Given the description of an element on the screen output the (x, y) to click on. 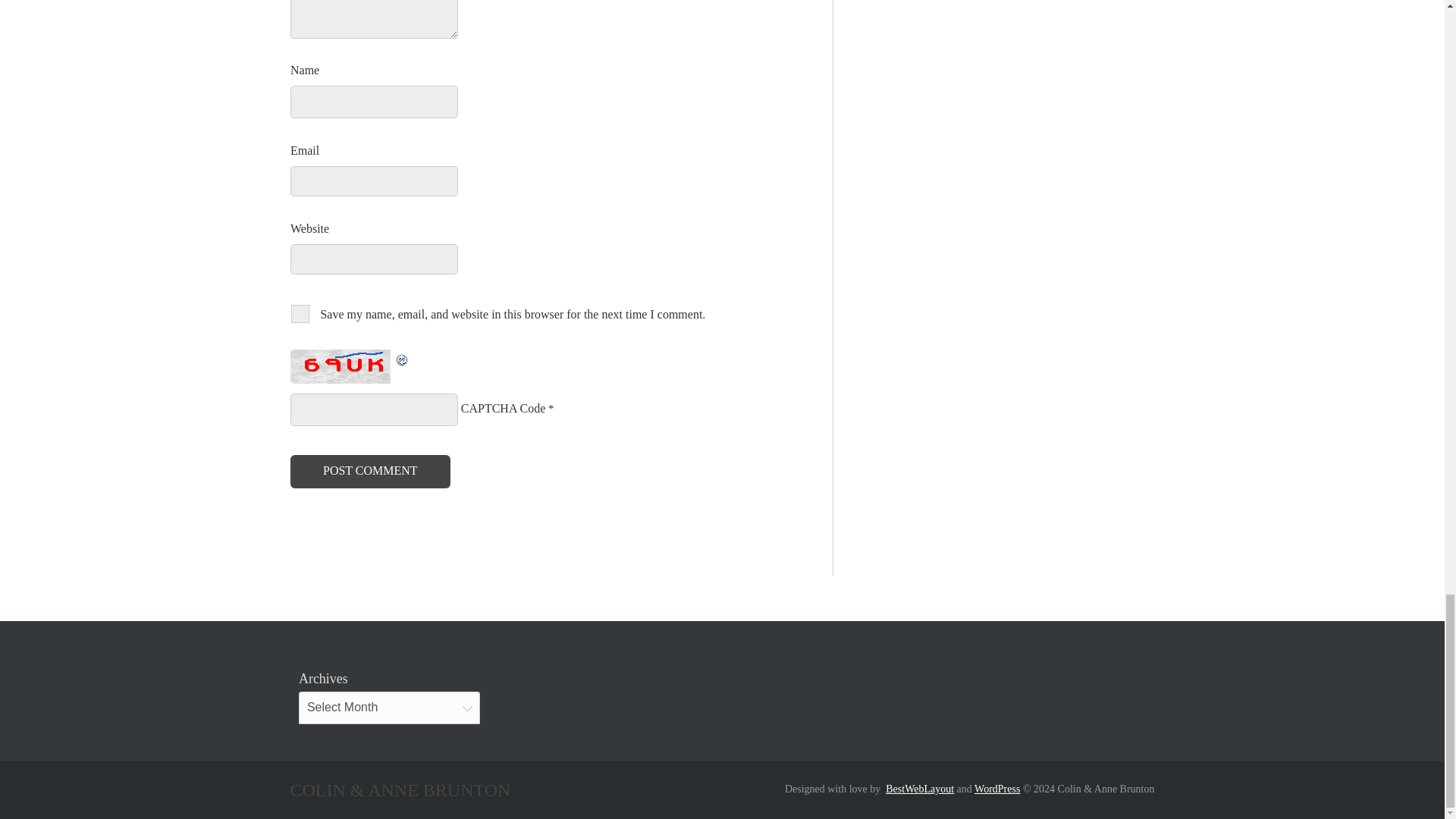
WordPress (997, 788)
Post Comment (369, 471)
Post Comment (369, 471)
CAPTCHA (341, 366)
BestWebLayout (919, 788)
Refresh (402, 358)
